Given the description of an element on the screen output the (x, y) to click on. 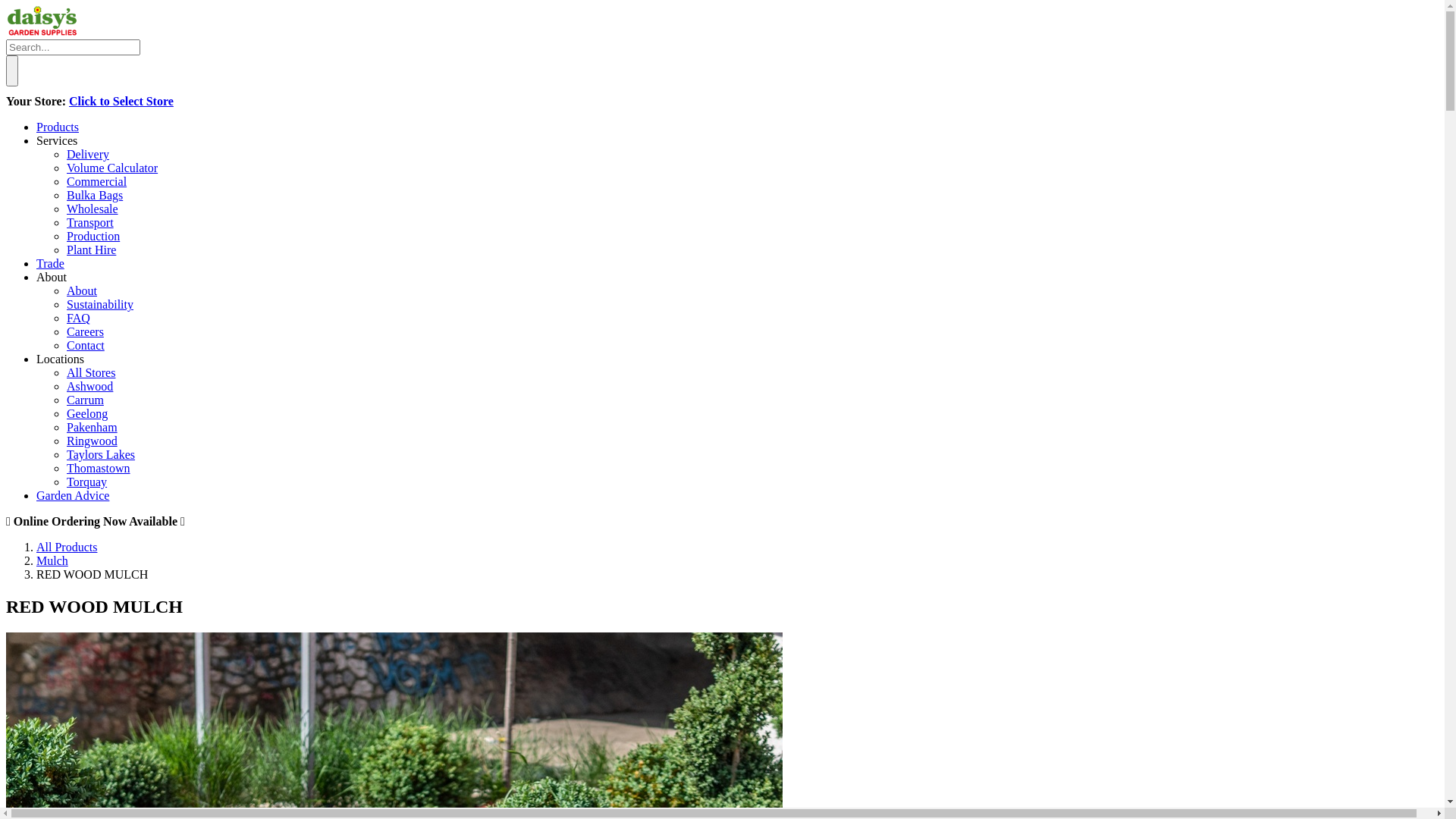
Transport Element type: text (89, 222)
Wholesale Element type: text (92, 208)
Volume Calculator Element type: text (111, 167)
Locations Element type: text (60, 358)
Ashwood Element type: text (89, 385)
Plant Hire Element type: text (91, 249)
Carrum Element type: text (84, 399)
FAQ Element type: text (78, 317)
Pakenham Element type: text (91, 426)
Bulka Bags Element type: text (94, 194)
Thomastown Element type: text (98, 467)
Delivery Element type: text (87, 153)
Daisy's Garden Supplies Element type: hover (42, 31)
Products Element type: text (57, 126)
Contact Element type: text (85, 344)
Geelong Element type: text (86, 413)
Production Element type: text (92, 235)
Trade Element type: text (50, 263)
Sustainability Element type: text (99, 304)
About Element type: text (81, 290)
Careers Element type: text (84, 331)
All Products Element type: text (66, 546)
Mulch Element type: text (52, 560)
Torquay Element type: text (86, 481)
Click to Select Store Element type: text (121, 100)
All Stores Element type: text (90, 372)
Garden Advice Element type: text (72, 495)
About Element type: text (51, 276)
Taylors Lakes Element type: text (100, 454)
0 Element type: text (722, 75)
Services Element type: text (56, 140)
Search Element type: hover (12, 70)
Ringwood Element type: text (91, 440)
Commercial Element type: text (96, 181)
